Given the description of an element on the screen output the (x, y) to click on. 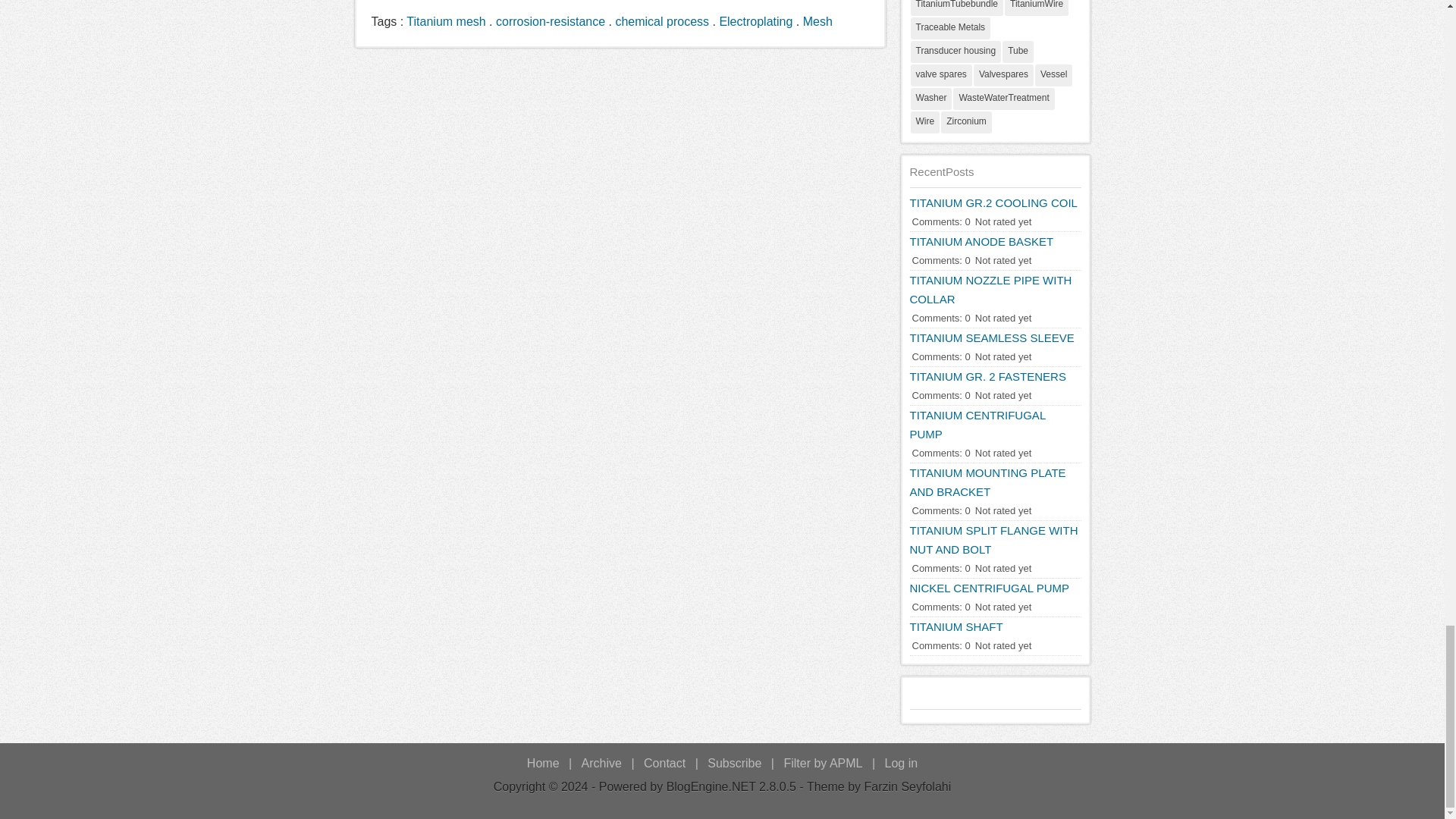
chemical process (661, 21)
corrosion-resistance (550, 21)
Titanium mesh (445, 21)
